Given the description of an element on the screen output the (x, y) to click on. 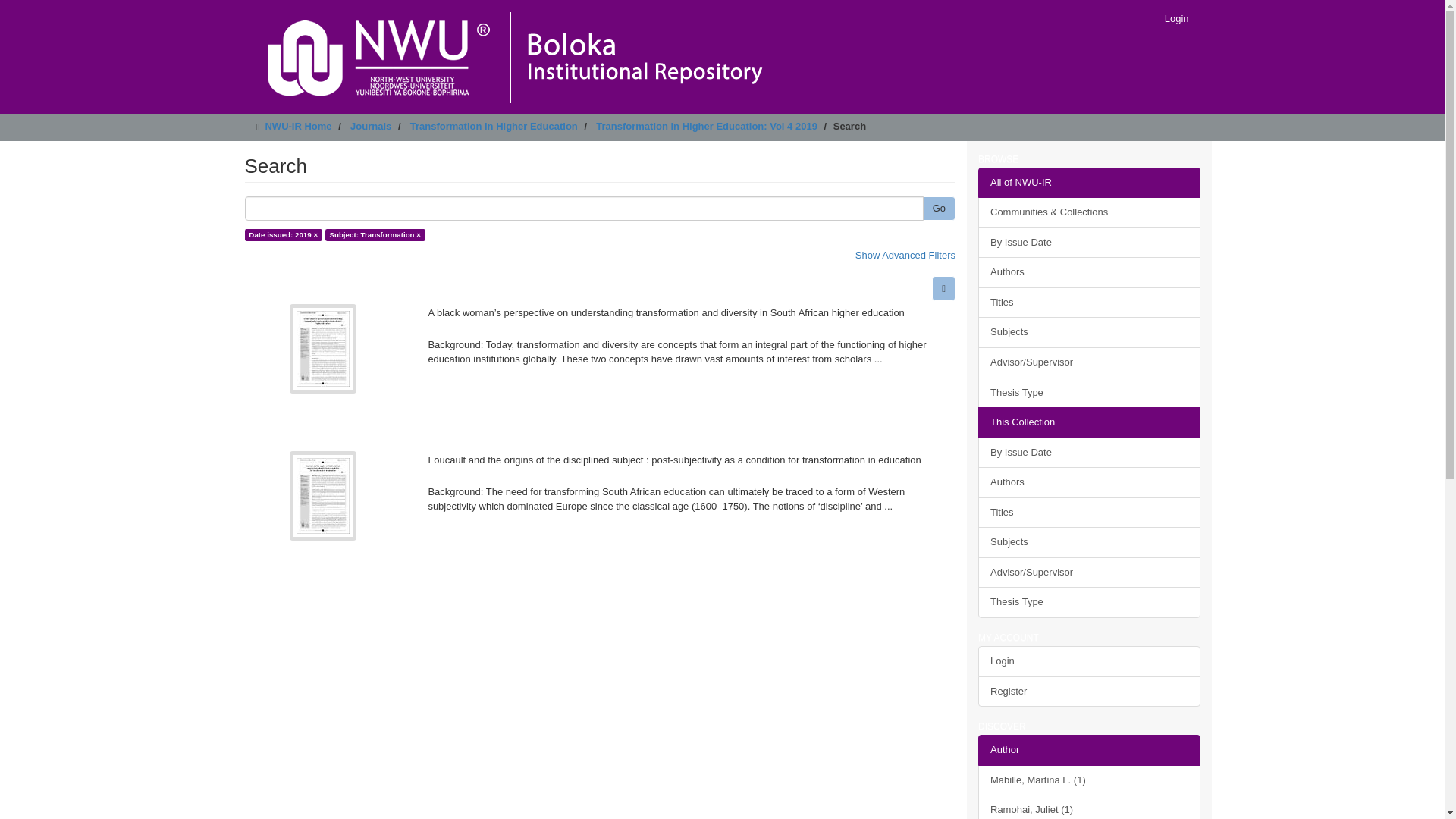
Journals (370, 125)
NWU-IR Home (297, 125)
Login (1176, 18)
Show Advanced Filters (905, 255)
Transformation in Higher Education (494, 125)
Go (939, 208)
Transformation in Higher Education: Vol 4 2019 (705, 125)
